Given the description of an element on the screen output the (x, y) to click on. 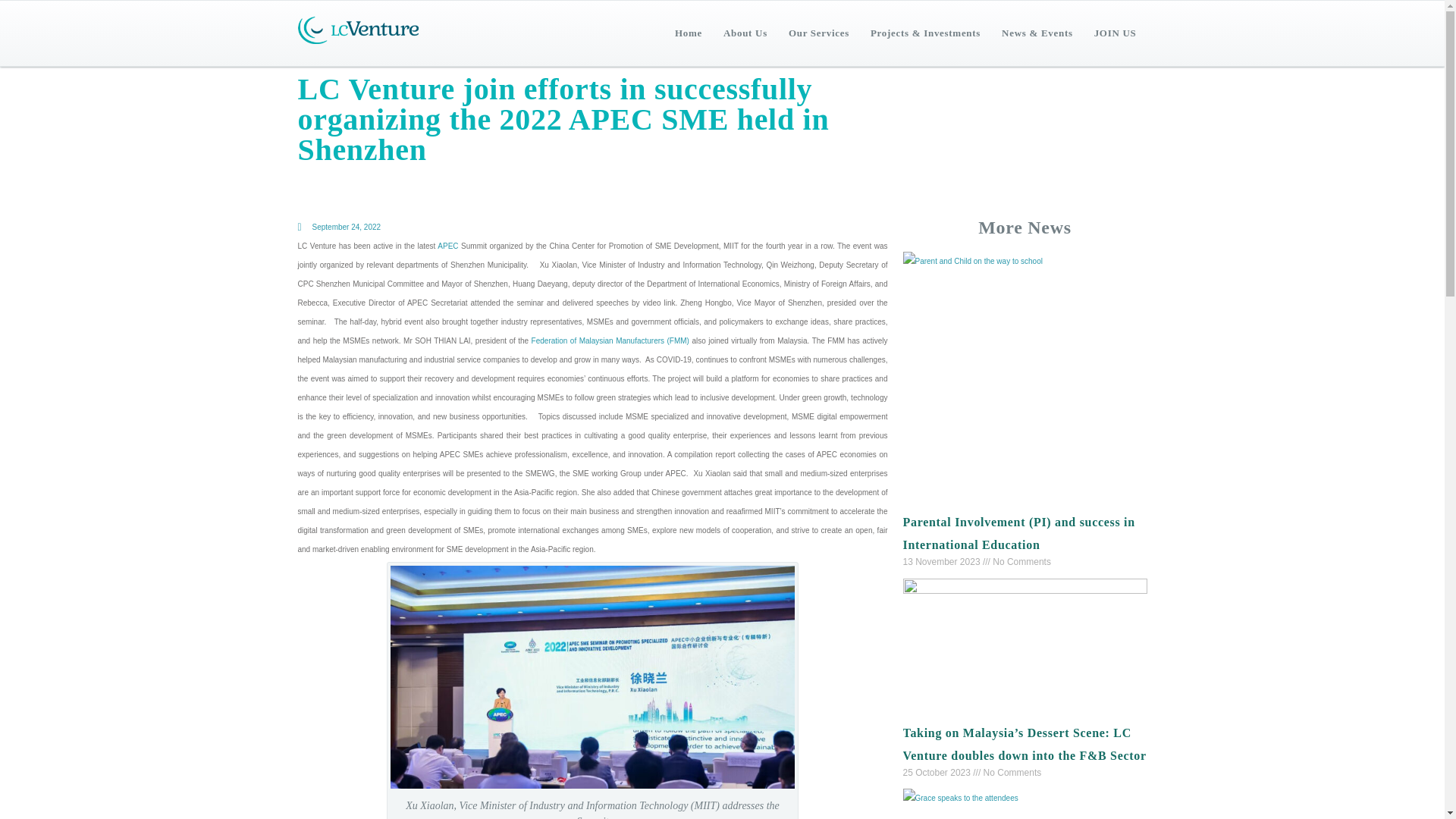
About Us (745, 32)
JOIN US (1115, 32)
Home (688, 32)
Our Services (818, 32)
